Given the description of an element on the screen output the (x, y) to click on. 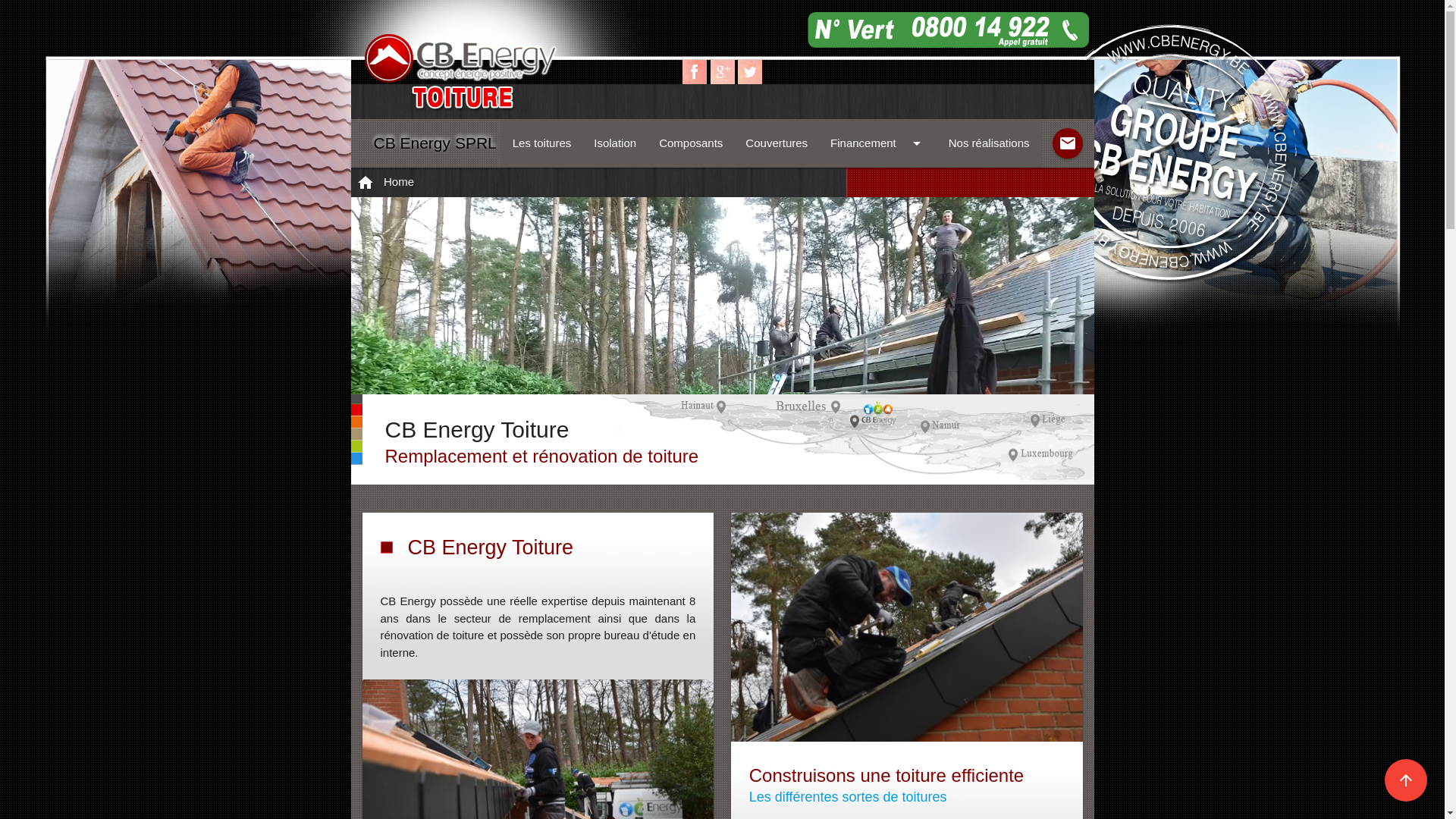
Composants Element type: text (690, 143)
Isolation Element type: text (614, 143)
Les toitures Element type: text (542, 143)
home
Home Element type: text (398, 180)
arrow_upward Element type: text (1405, 780)
Couvertures Element type: text (776, 143)
CB Energy SPRL Element type: text (434, 143)
Financement
arrow_drop_down Element type: text (878, 143)
email Element type: text (1067, 143)
